Given the description of an element on the screen output the (x, y) to click on. 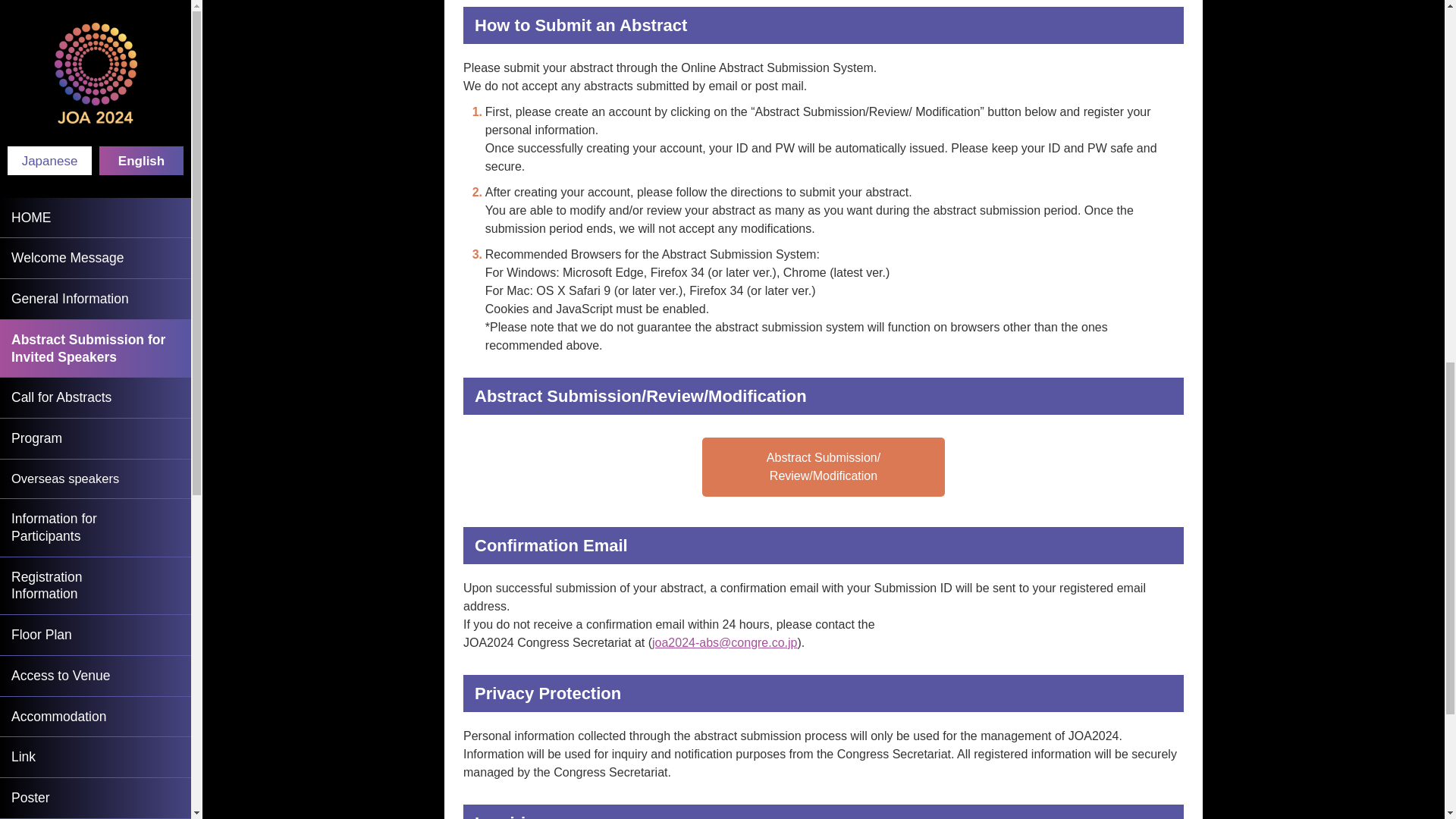
1st Announcement (95, 20)
